Given the description of an element on the screen output the (x, y) to click on. 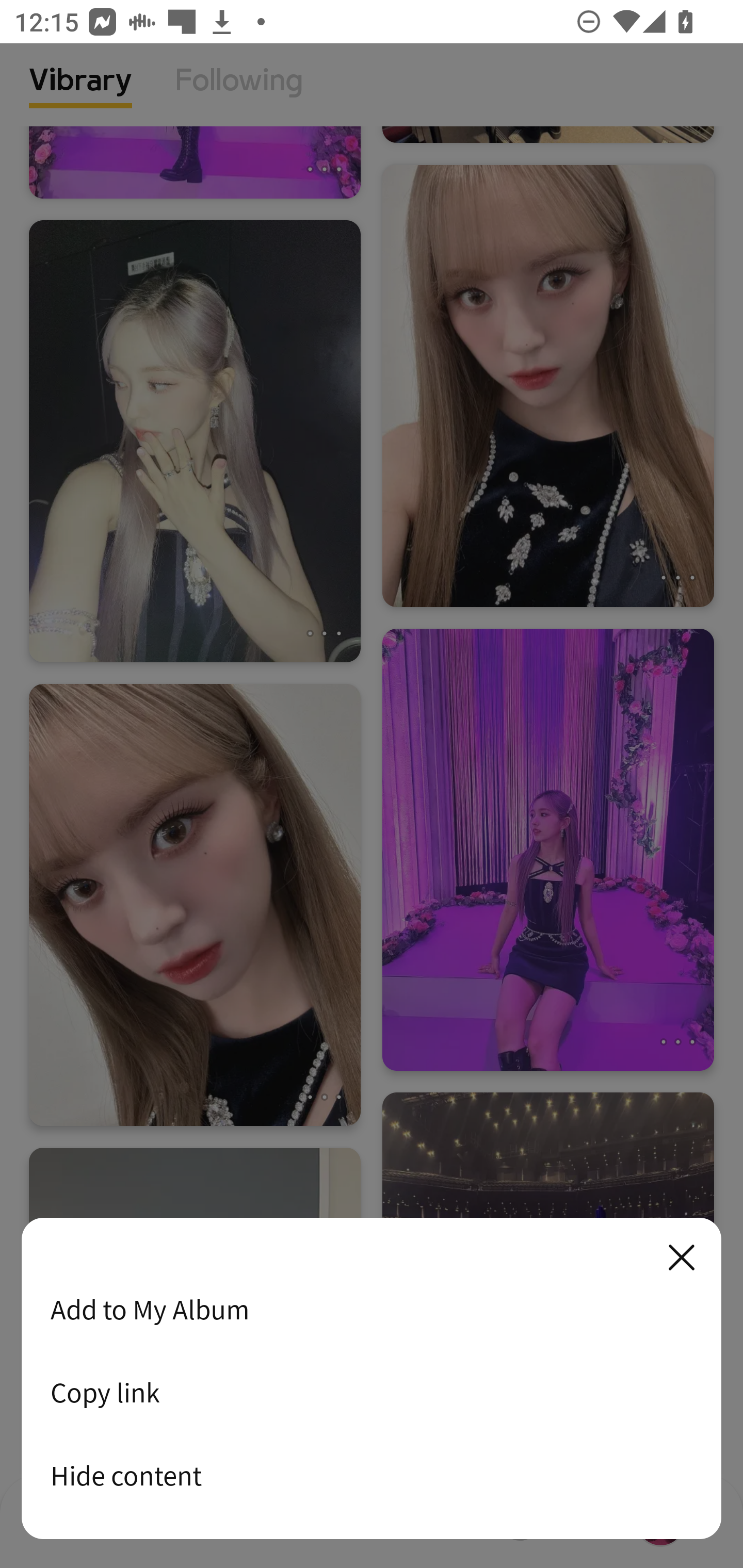
Add to My Album Copy link Hide content (371, 1378)
Add to My Album (371, 1308)
Copy link (371, 1391)
Hide content (371, 1474)
